Given the description of an element on the screen output the (x, y) to click on. 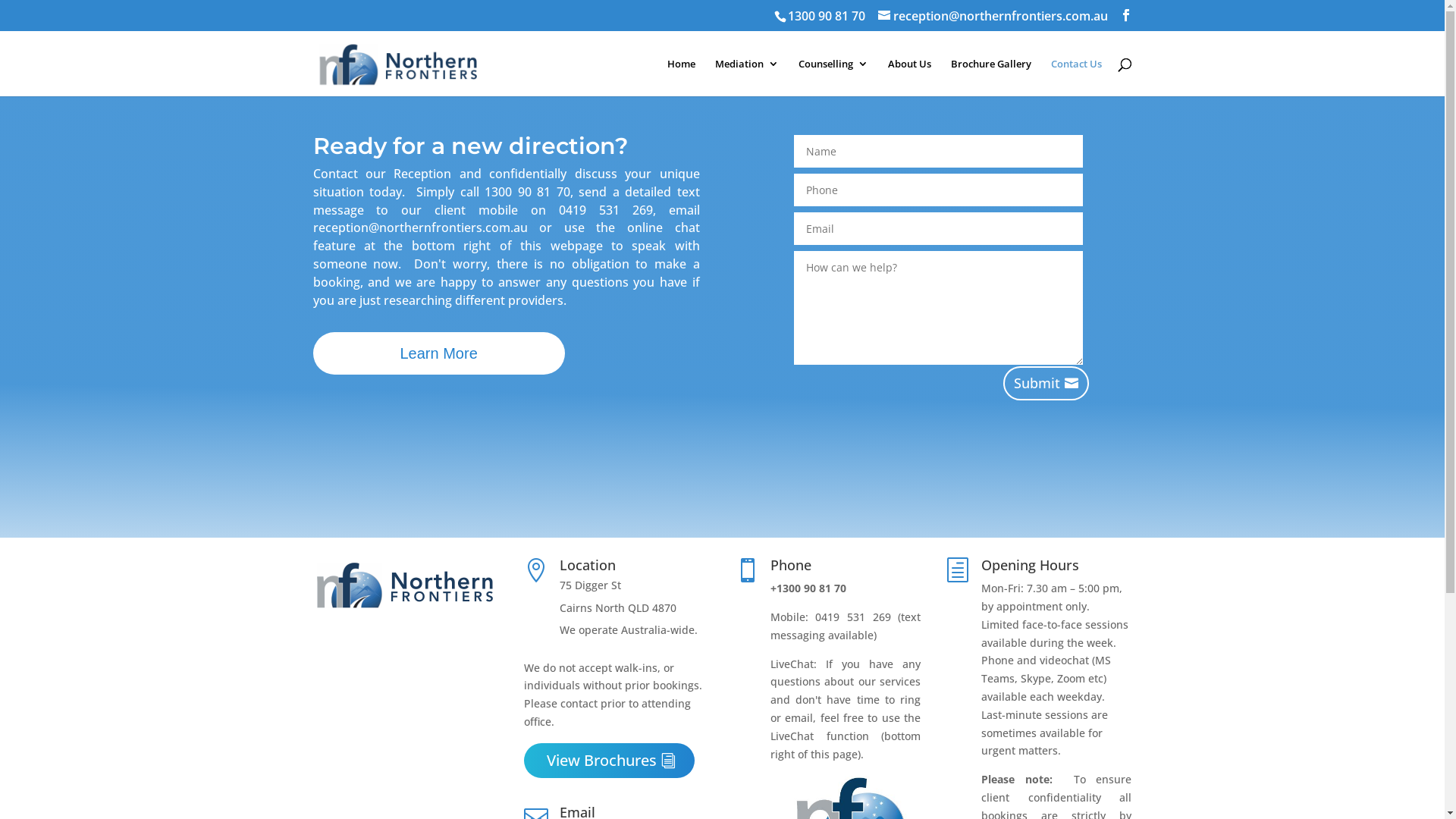
Learn More Element type: text (438, 353)
Phone Element type: text (790, 564)
Brochure Gallery Element type: text (990, 77)
About Us Element type: text (908, 77)
Home Element type: text (681, 77)
reception@northernfrontiers.com.au Element type: text (992, 15)
reception@northernfrontiers.com.au Element type: text (419, 227)
Contact Us Element type: text (1076, 77)
Counselling Element type: text (832, 77)
Mediation Element type: text (746, 77)
Submit Element type: text (1046, 383)
View Brochures Element type: text (609, 760)
